Given the description of an element on the screen output the (x, y) to click on. 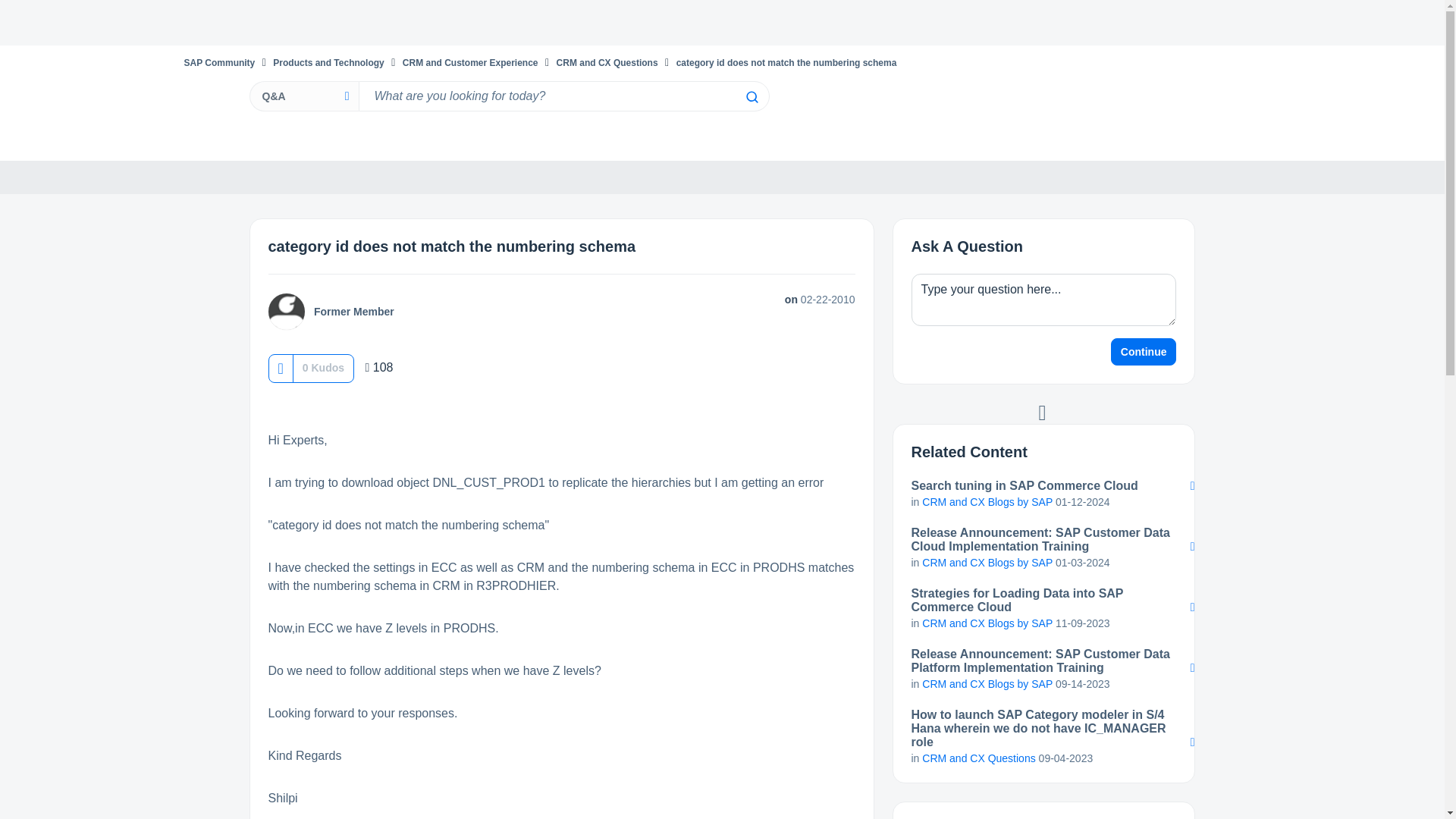
Search (750, 96)
SAP Community (218, 62)
Search Granularity (303, 96)
CRM and Customer Experience (470, 62)
Search (563, 96)
Continue (1143, 351)
Products and Technology (328, 62)
Search (750, 96)
Search (750, 96)
CRM and CX Questions (607, 62)
The total number of kudos this post has received. (323, 367)
Click here to give kudos to this post. (279, 367)
